Given the description of an element on the screen output the (x, y) to click on. 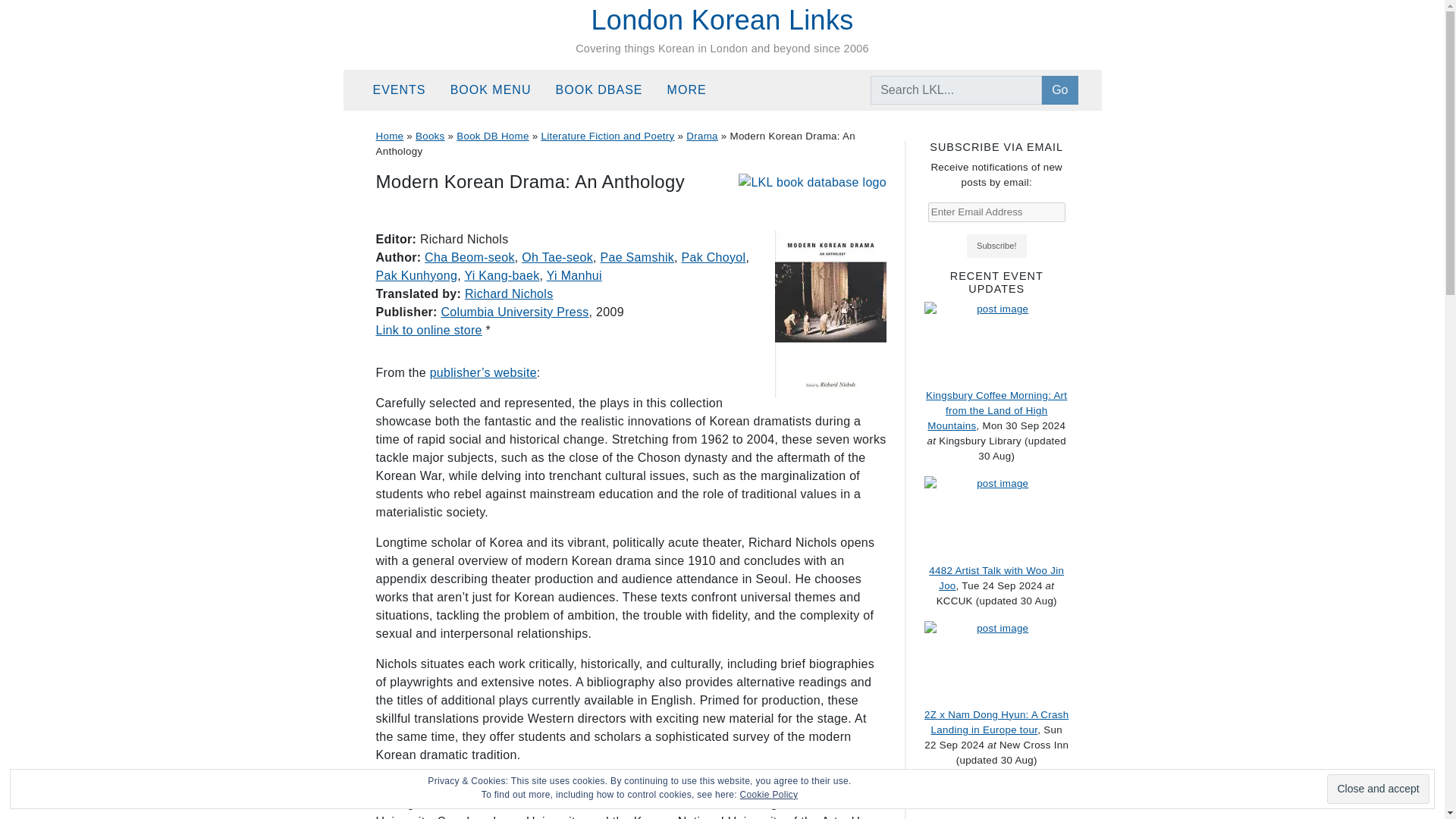
London Korean Links (722, 20)
Close and accept (1377, 788)
Book menu (497, 90)
MORE (693, 90)
EVENTS (405, 90)
Events (405, 90)
BOOK MENU (497, 90)
BOOK DBASE (605, 90)
